Given the description of an element on the screen output the (x, y) to click on. 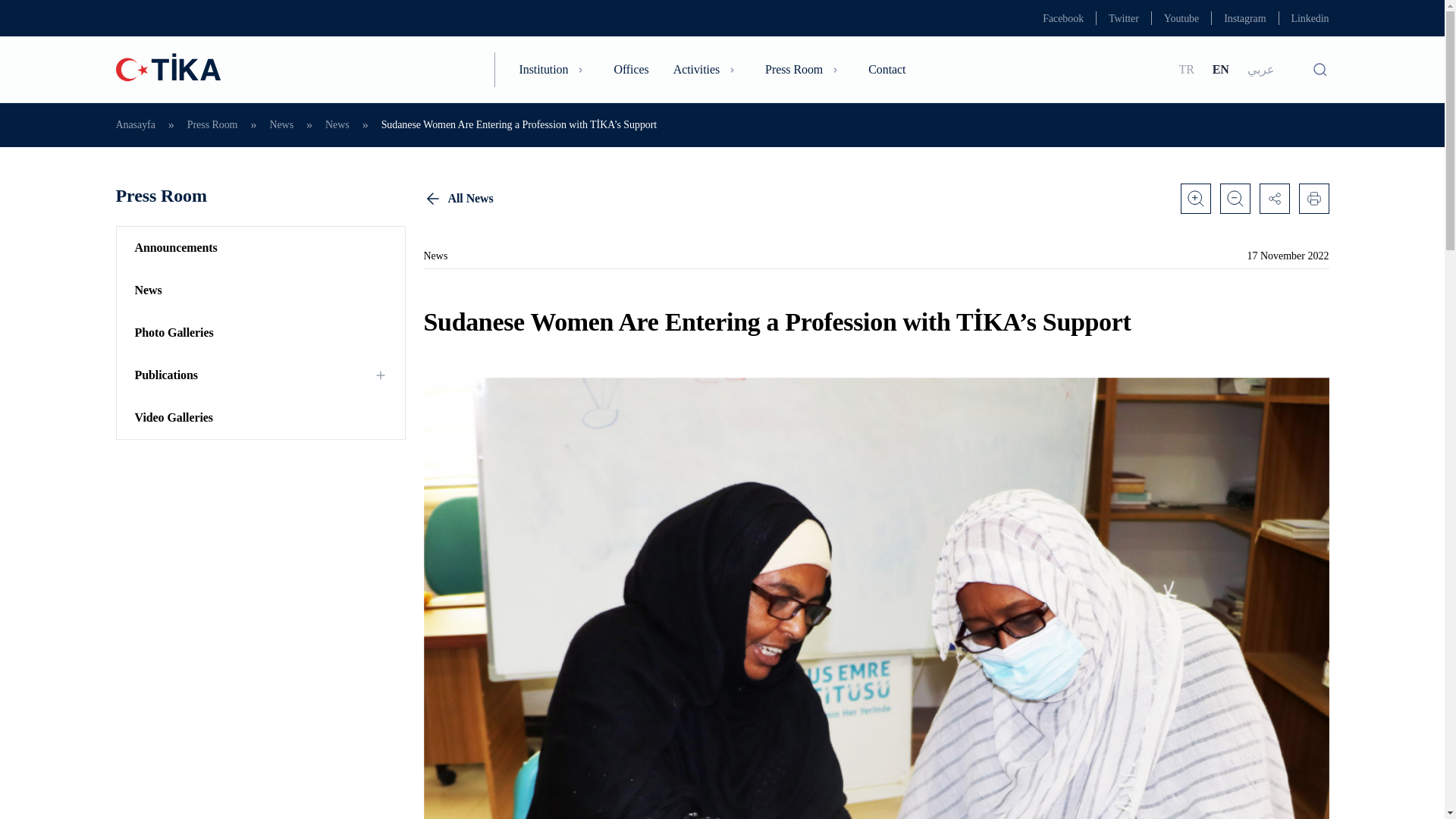
All News (875, 198)
Press Room (259, 195)
Facebook (1062, 18)
Youtube (1180, 18)
Activities (706, 69)
Press Room (804, 69)
Institution (554, 69)
Linkedin (1308, 18)
Instagram (1244, 18)
Offices (629, 69)
Contact (886, 69)
Twitter (1123, 18)
